Given the description of an element on the screen output the (x, y) to click on. 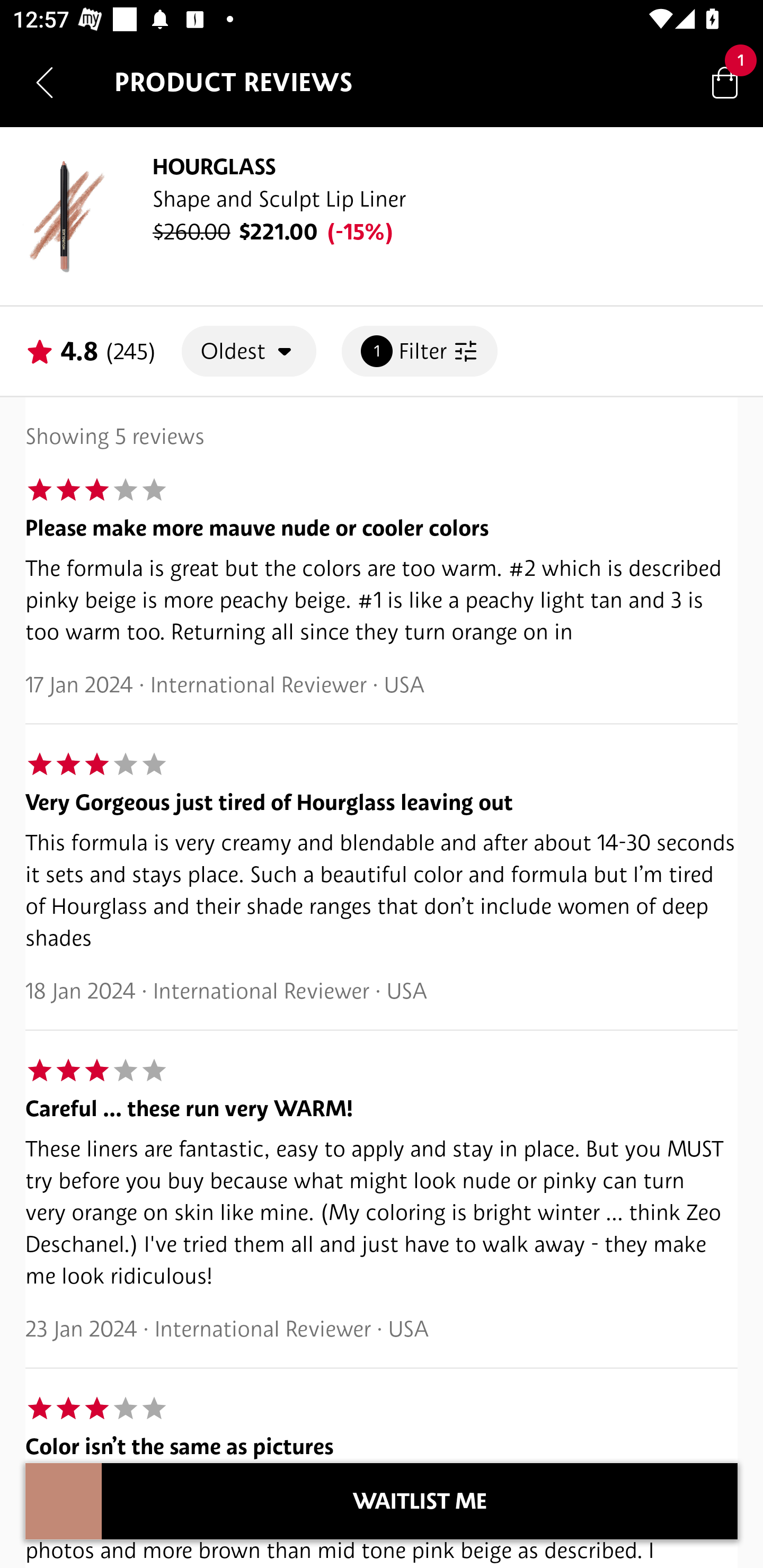
Navigate up (44, 82)
Bag (724, 81)
Oldest (248, 351)
1 Filter (419, 351)
WAITLIST ME (419, 1500)
